Given the description of an element on the screen output the (x, y) to click on. 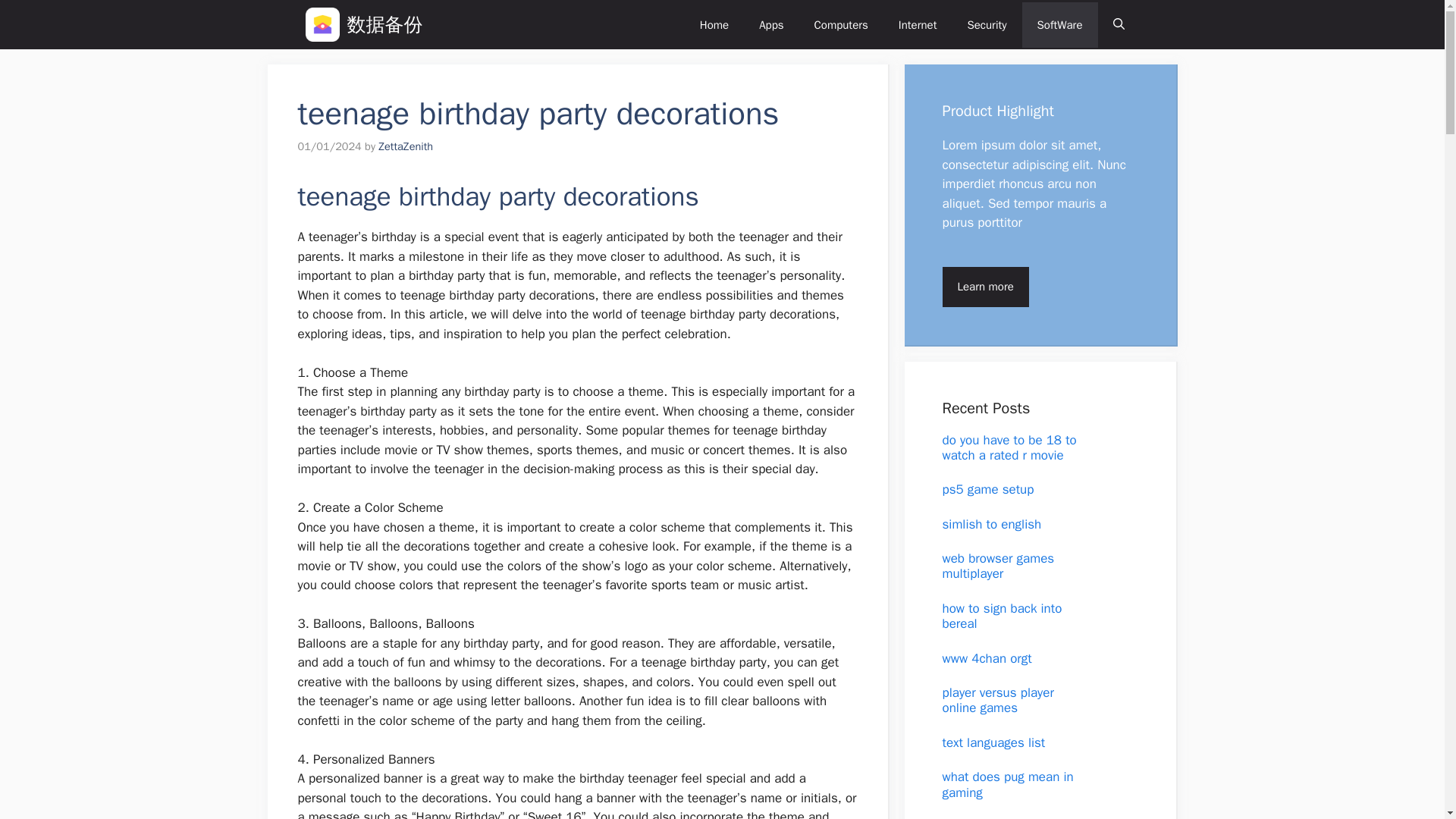
Home (714, 23)
SoftWare (1059, 23)
ps5 game setup (987, 489)
web browser games multiplayer (998, 565)
what does pug mean in gaming (1007, 784)
text languages list (993, 742)
ZettaZenith (405, 146)
player versus player online games (997, 699)
simlish to english (991, 524)
Apps (770, 23)
